Given the description of an element on the screen output the (x, y) to click on. 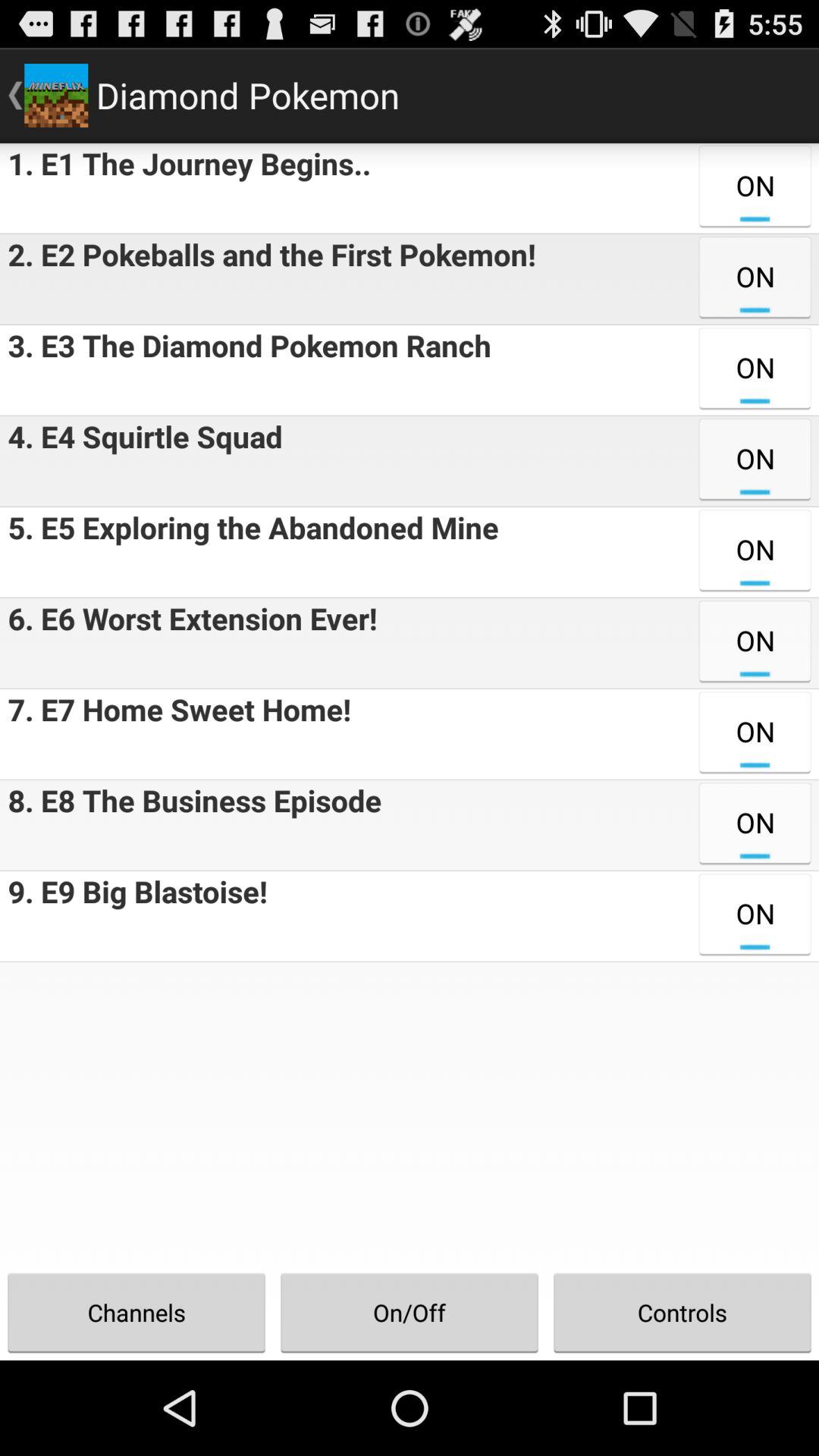
press the item to the left of on icon (267, 279)
